Given the description of an element on the screen output the (x, y) to click on. 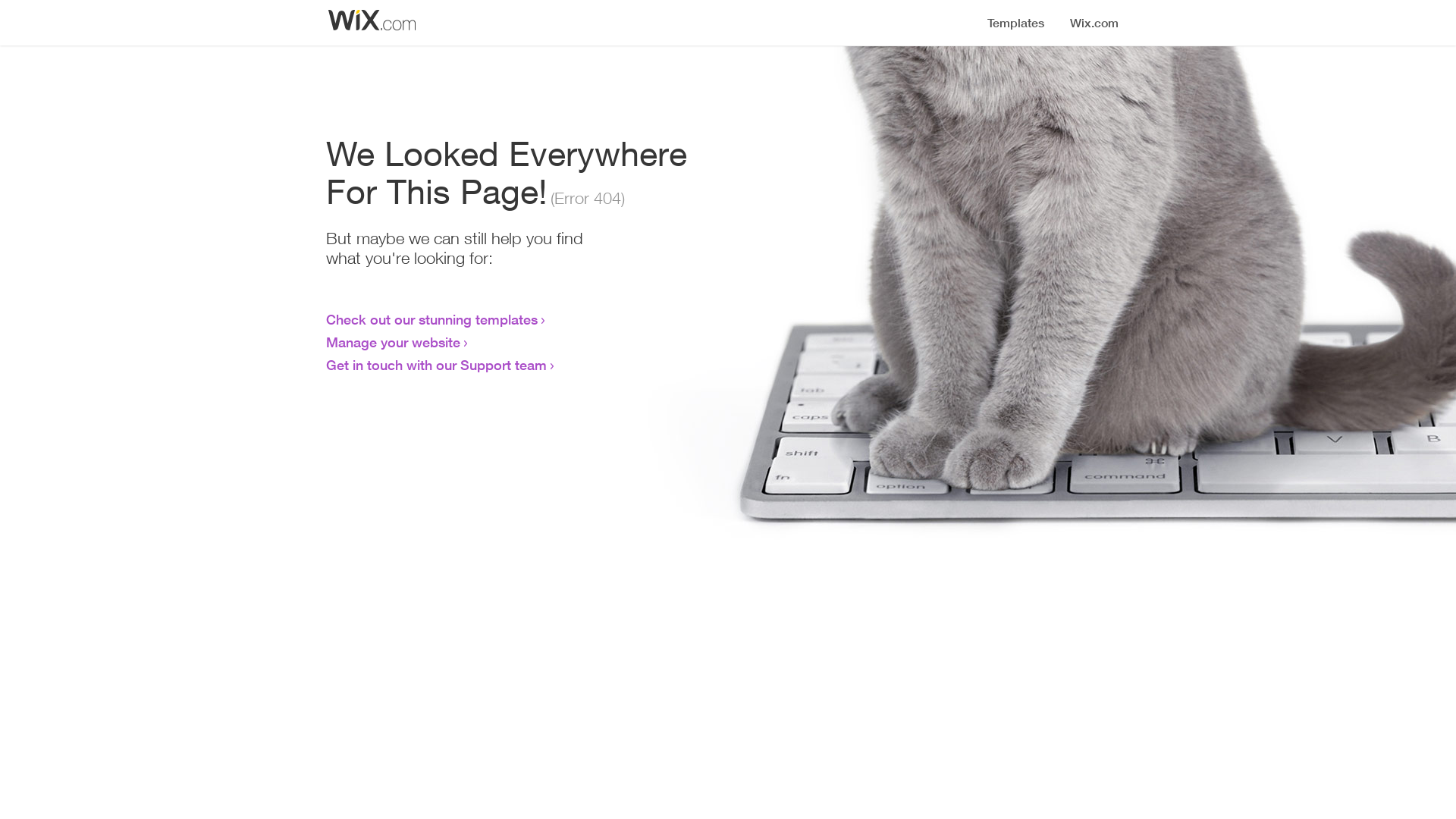
Manage your website Element type: text (393, 341)
Get in touch with our Support team Element type: text (436, 364)
Check out our stunning templates Element type: text (431, 318)
